Given the description of an element on the screen output the (x, y) to click on. 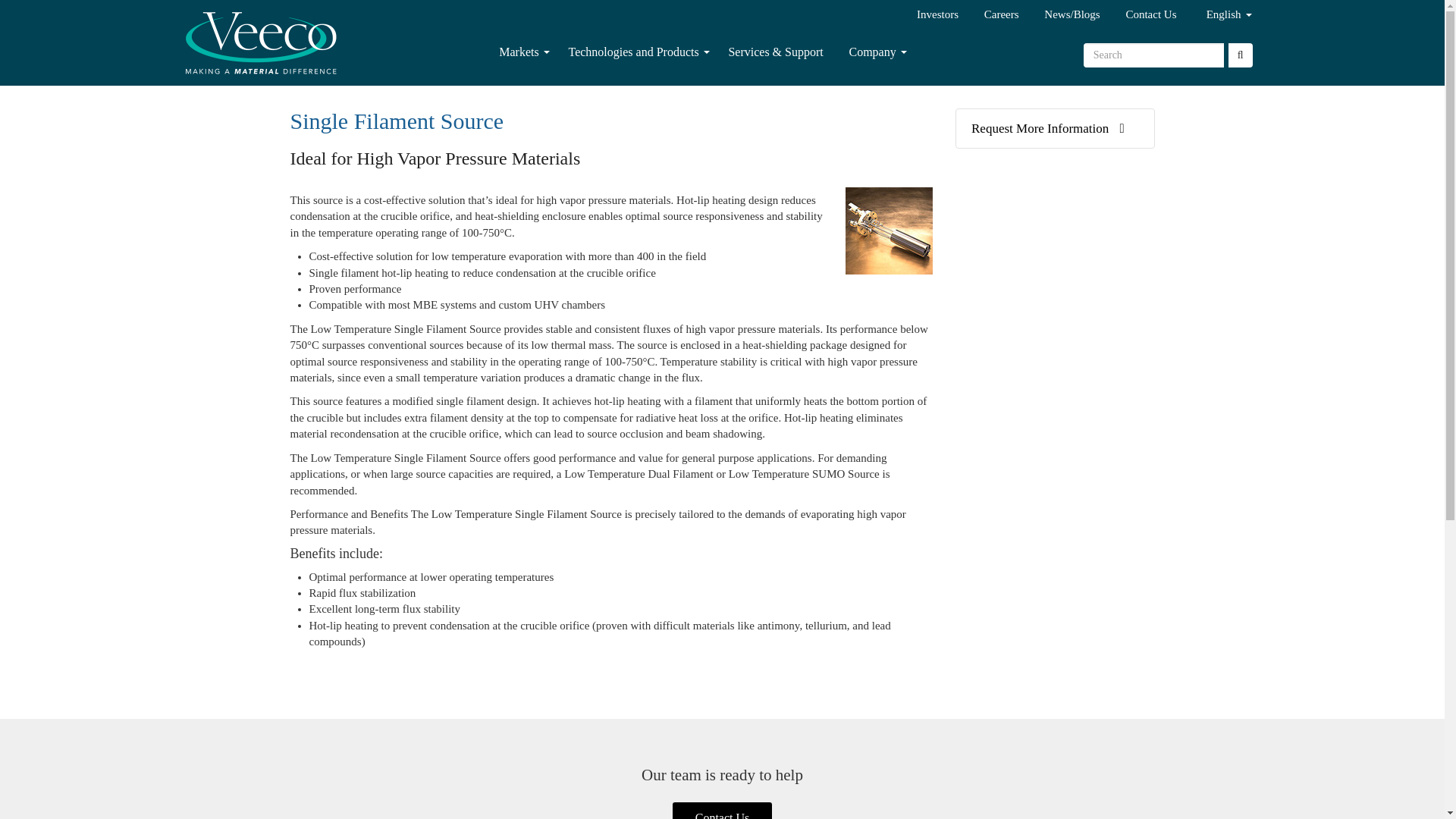
English (1217, 16)
Careers (989, 16)
Technologies and Products (633, 51)
Markets (518, 51)
Contact Us (1139, 16)
Investors (925, 16)
English (1217, 16)
